Given the description of an element on the screen output the (x, y) to click on. 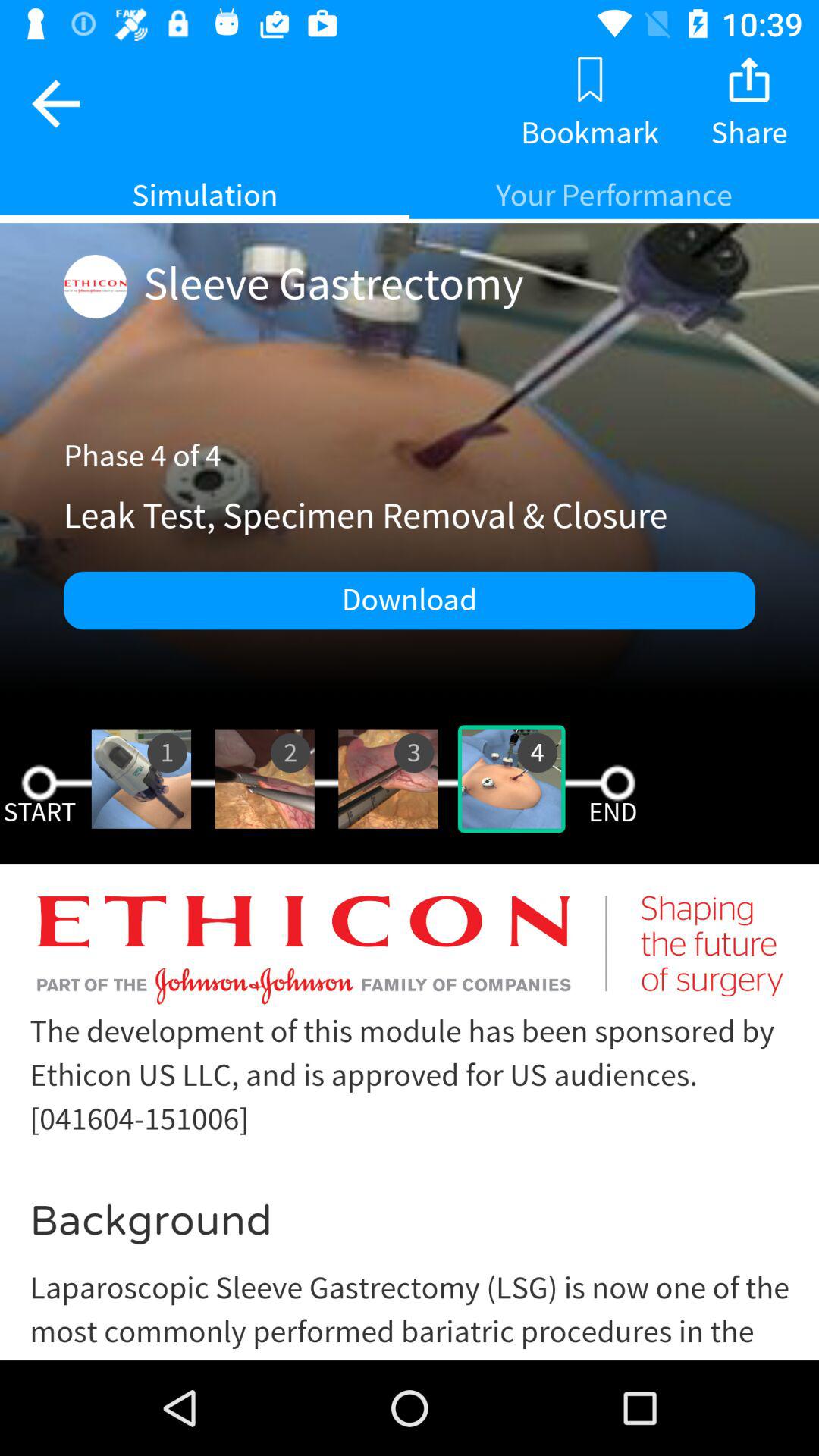
go to article (409, 1124)
